Given the description of an element on the screen output the (x, y) to click on. 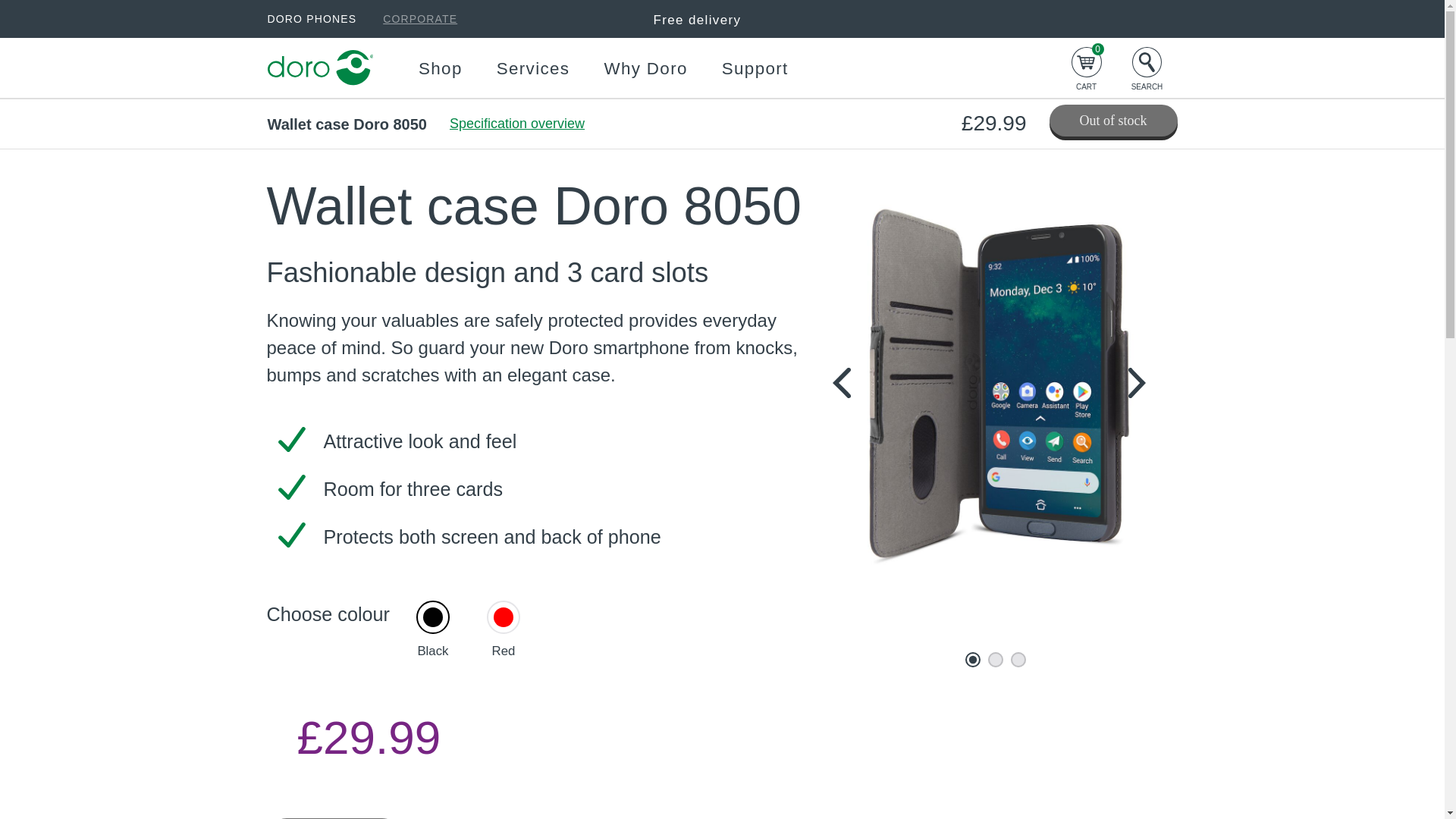
Services (533, 67)
DORO PHONES (311, 18)
Why Doro (645, 67)
Support (755, 67)
Shop (441, 67)
CORPORATE (419, 18)
